Given the description of an element on the screen output the (x, y) to click on. 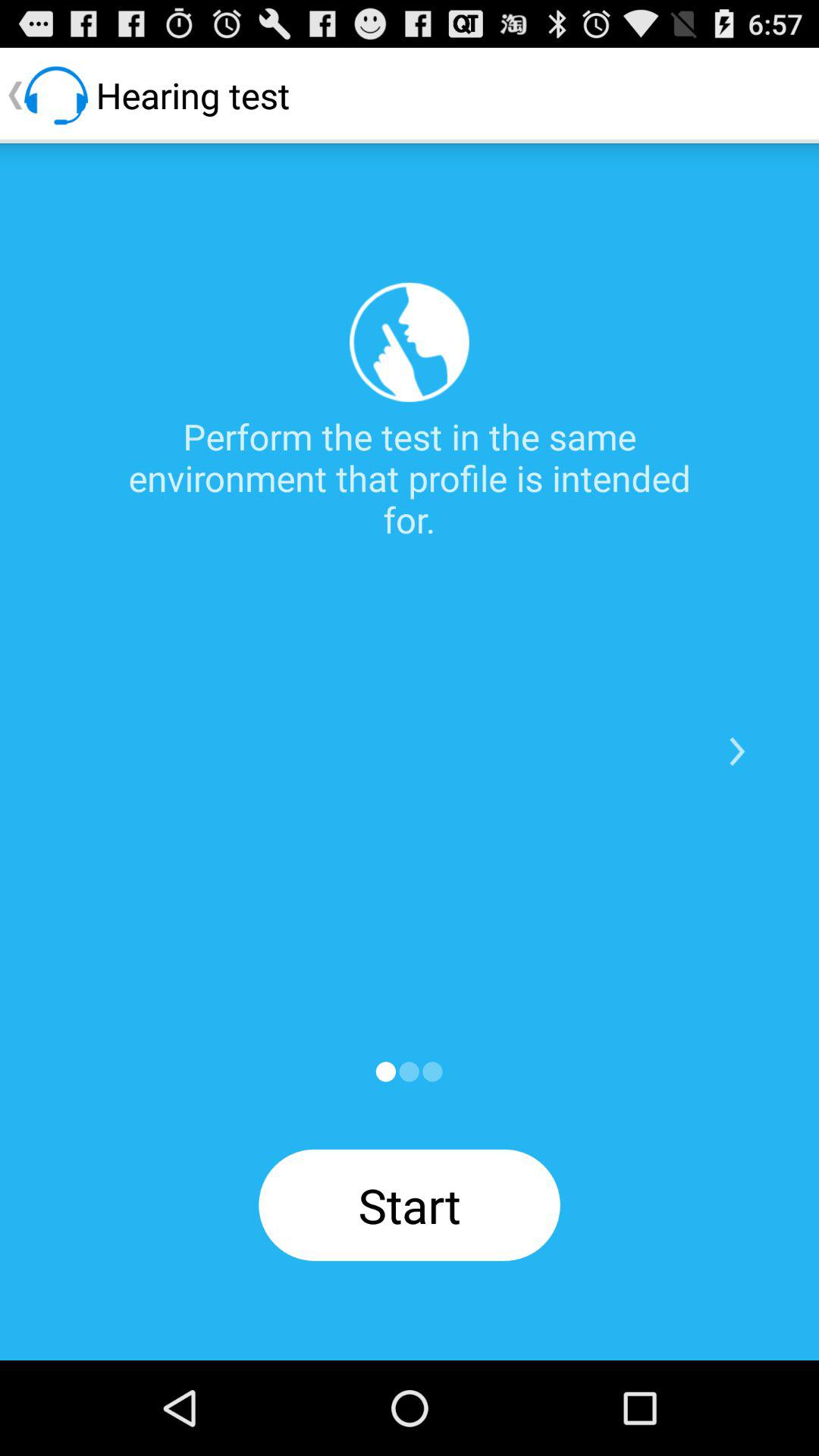
go to the next page (737, 751)
